Given the description of an element on the screen output the (x, y) to click on. 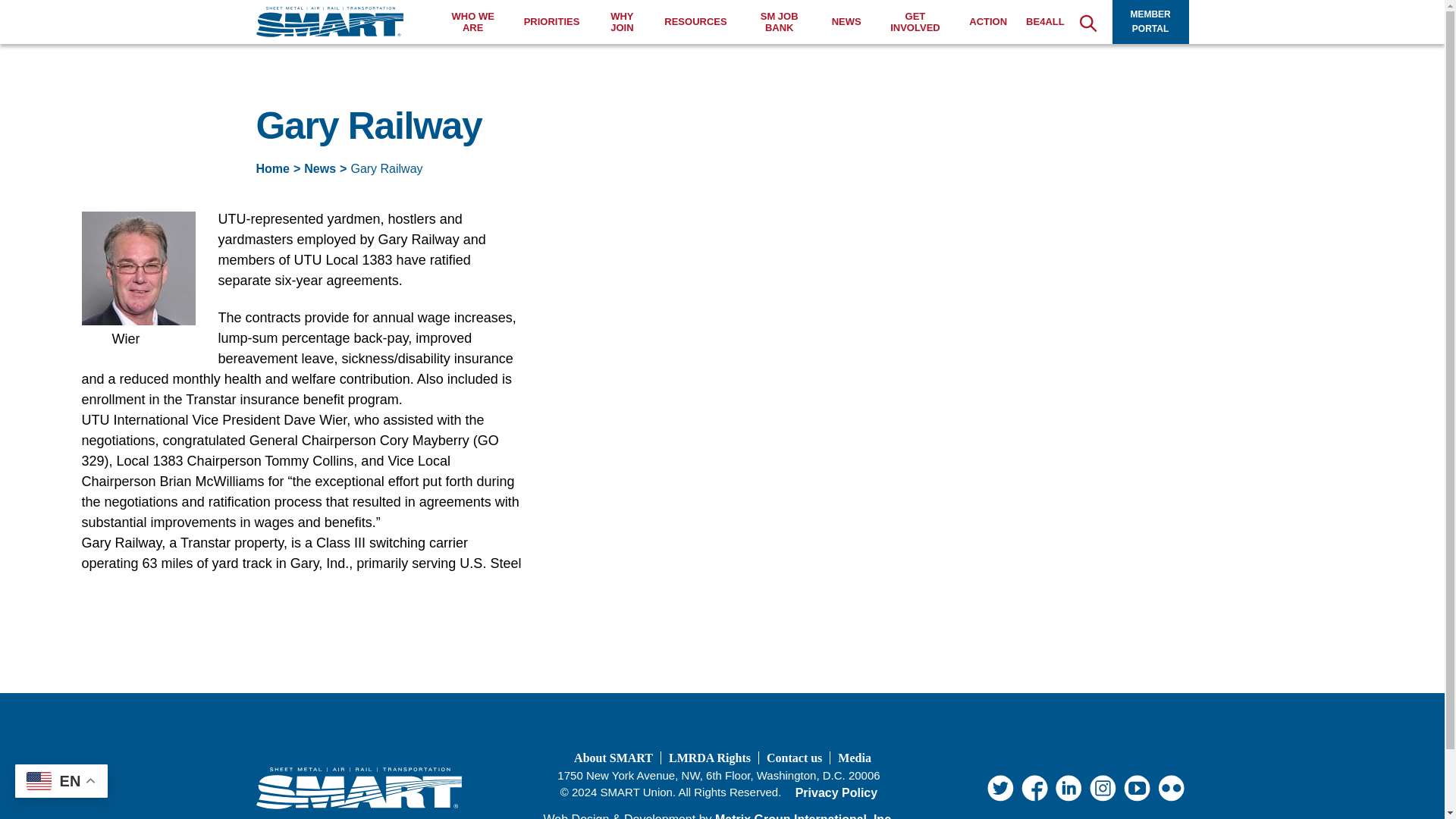
PRIORITIES (551, 21)
Wier, David.2011 (138, 268)
Go to News. (320, 168)
WHY JOIN (621, 22)
WHO WE ARE (473, 22)
Go to SMART Union. (272, 168)
